Given the description of an element on the screen output the (x, y) to click on. 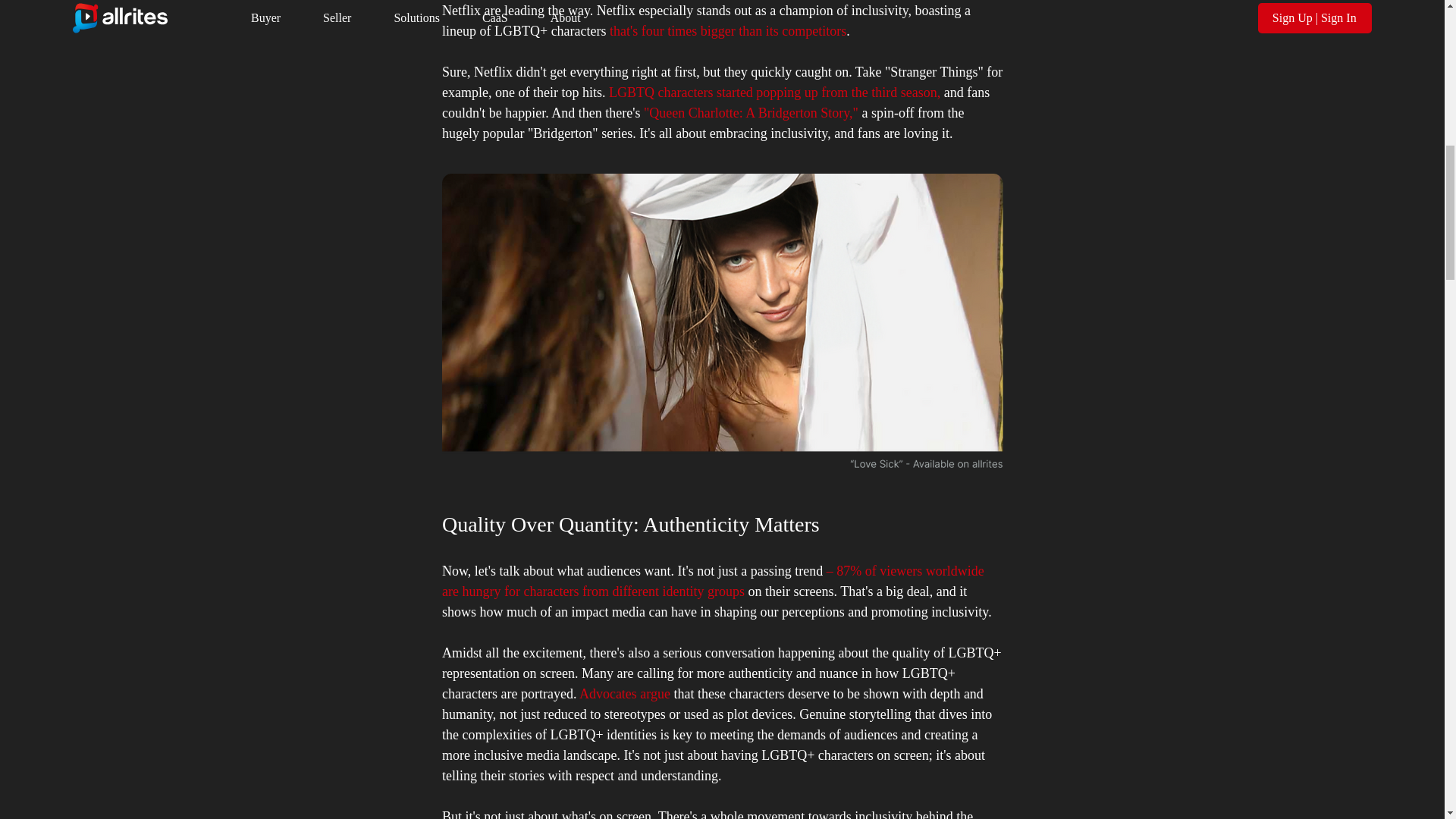
Advocates argue (623, 693)
"Queen Charlotte: A Bridgerton Story," (750, 112)
LGBTQ characters started popping up from the third season, (773, 92)
that's four times bigger than its competitors (727, 30)
